Given the description of an element on the screen output the (x, y) to click on. 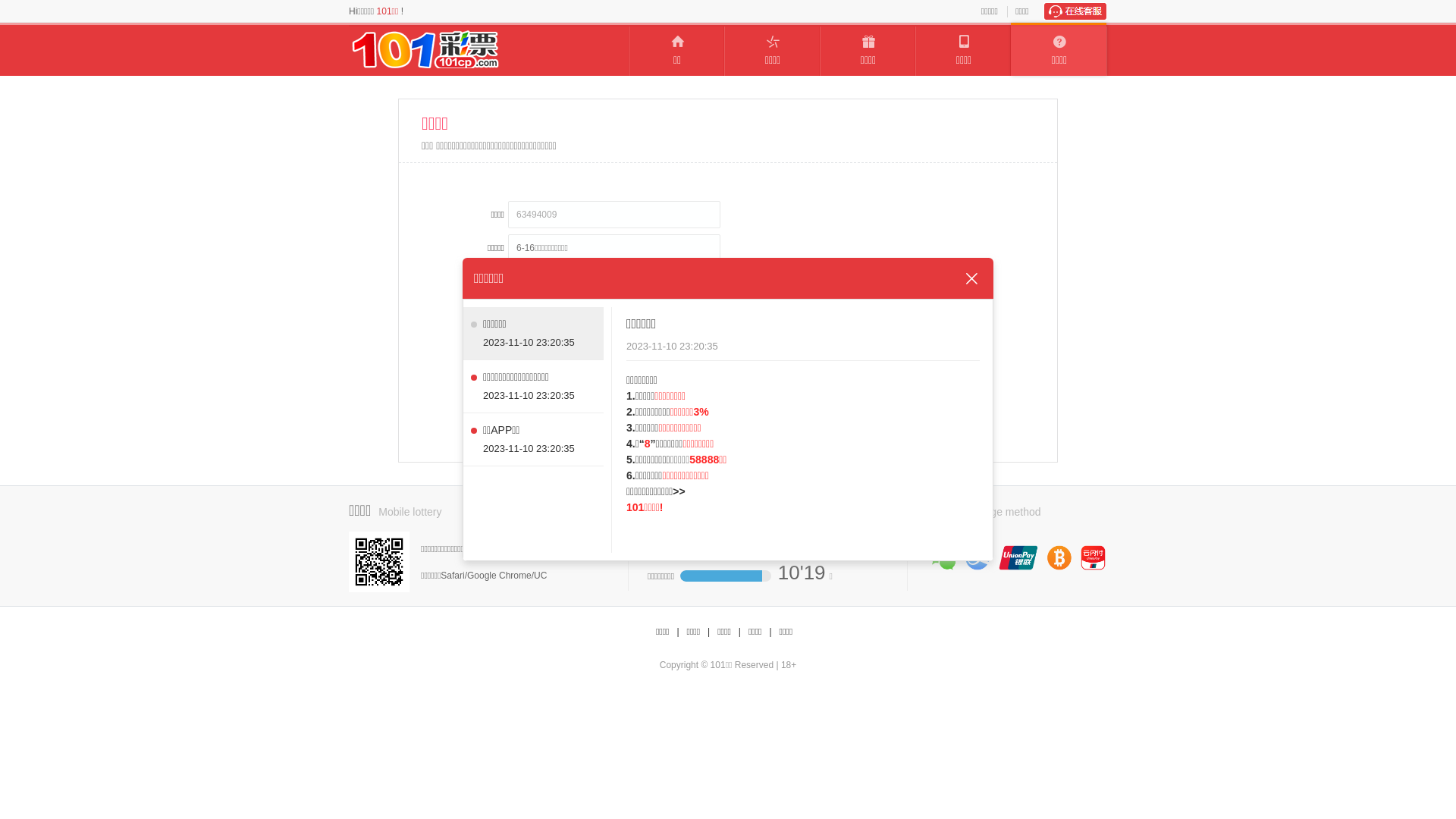
| Element type: text (677, 631)
| Element type: text (708, 631)
| Element type: text (769, 631)
| Element type: text (739, 631)
